Given the description of an element on the screen output the (x, y) to click on. 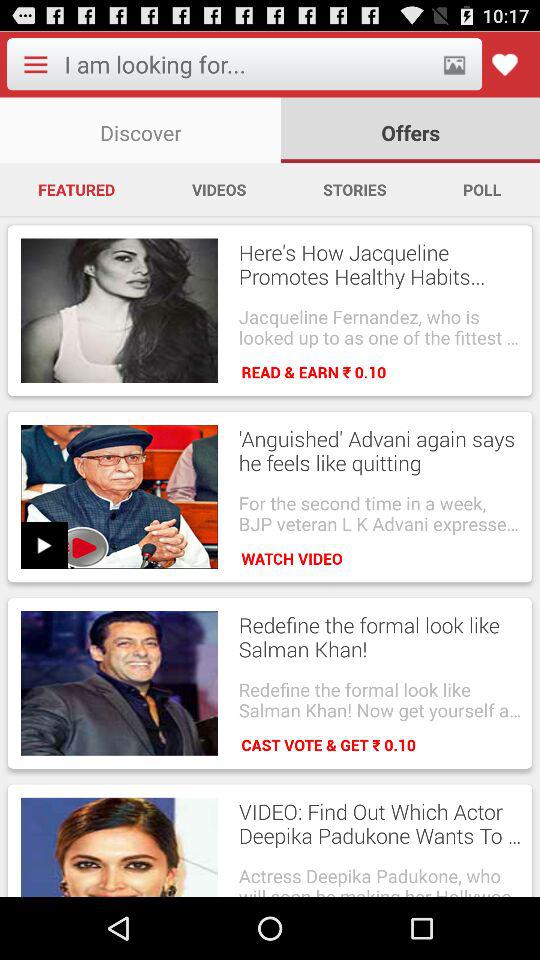
search an image (453, 63)
